Given the description of an element on the screen output the (x, y) to click on. 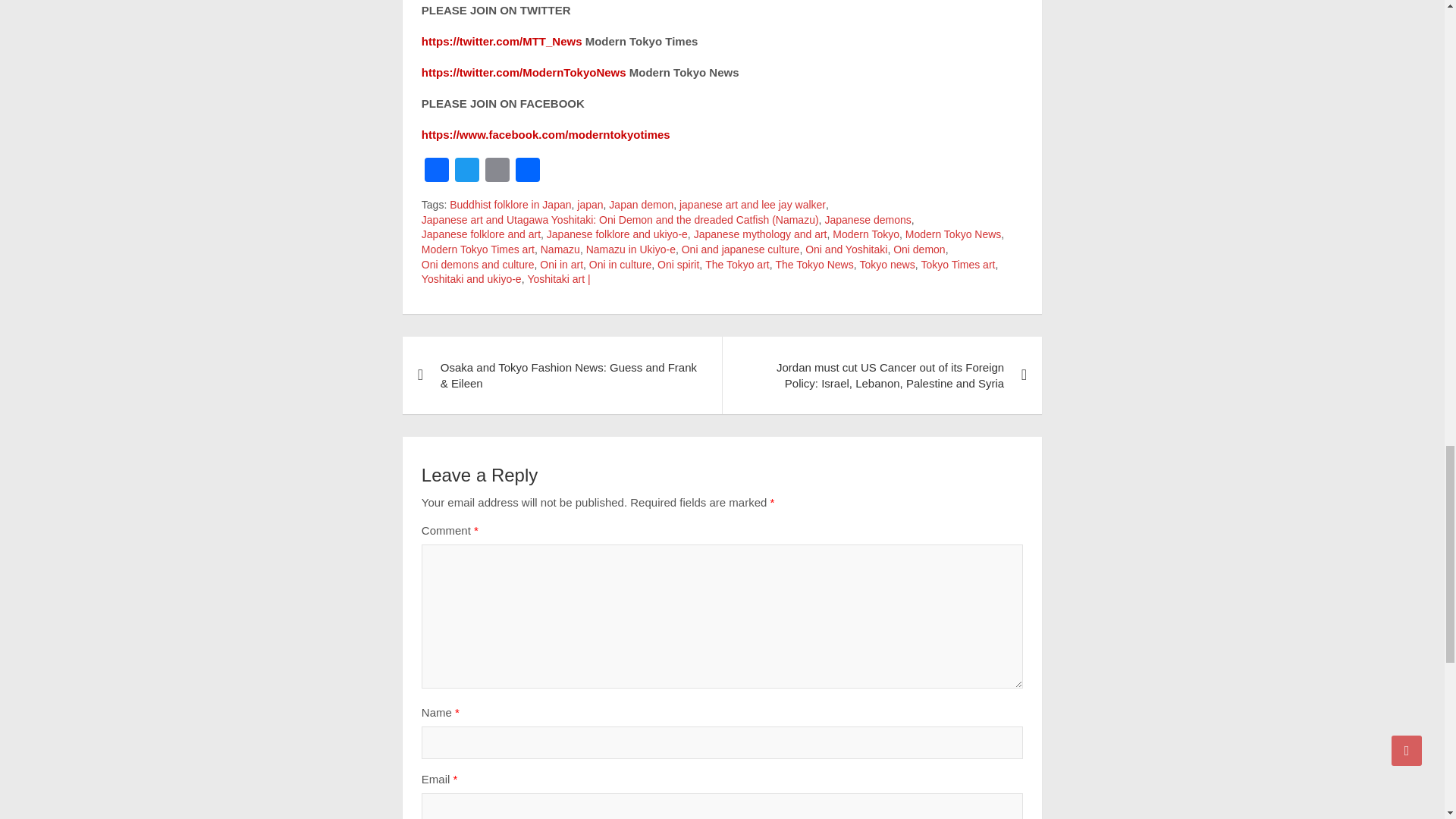
Buddhist folklore in Japan (509, 205)
japan (589, 205)
Facebook (436, 171)
Twitter (466, 171)
Japanese demons (867, 220)
japanese art and lee jay walker (752, 205)
Twitter (466, 171)
Japan demon (640, 205)
Facebook (436, 171)
Email (496, 171)
Email (496, 171)
